Given the description of an element on the screen output the (x, y) to click on. 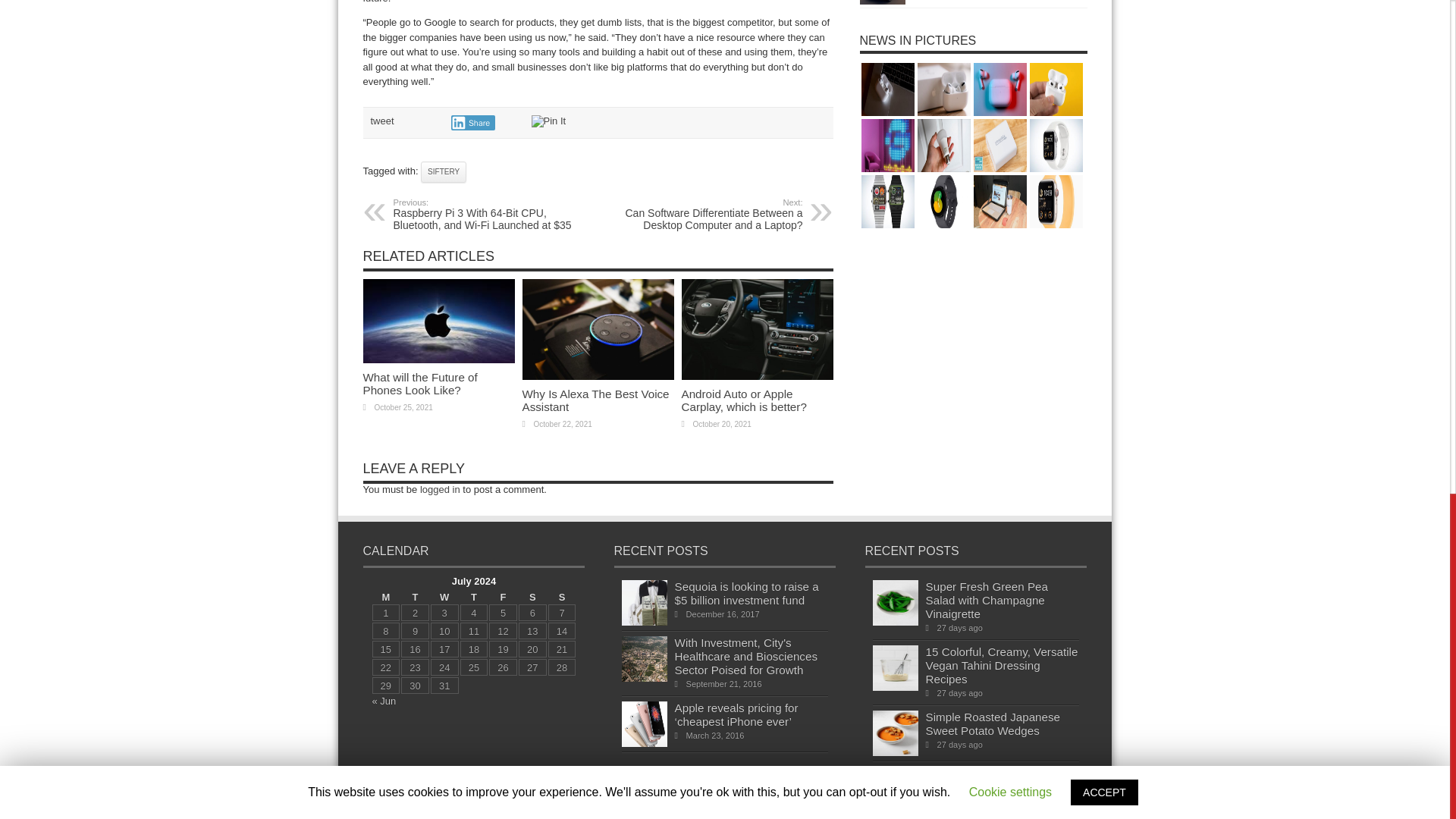
Share (472, 122)
tweet (381, 120)
